Given the description of an element on the screen output the (x, y) to click on. 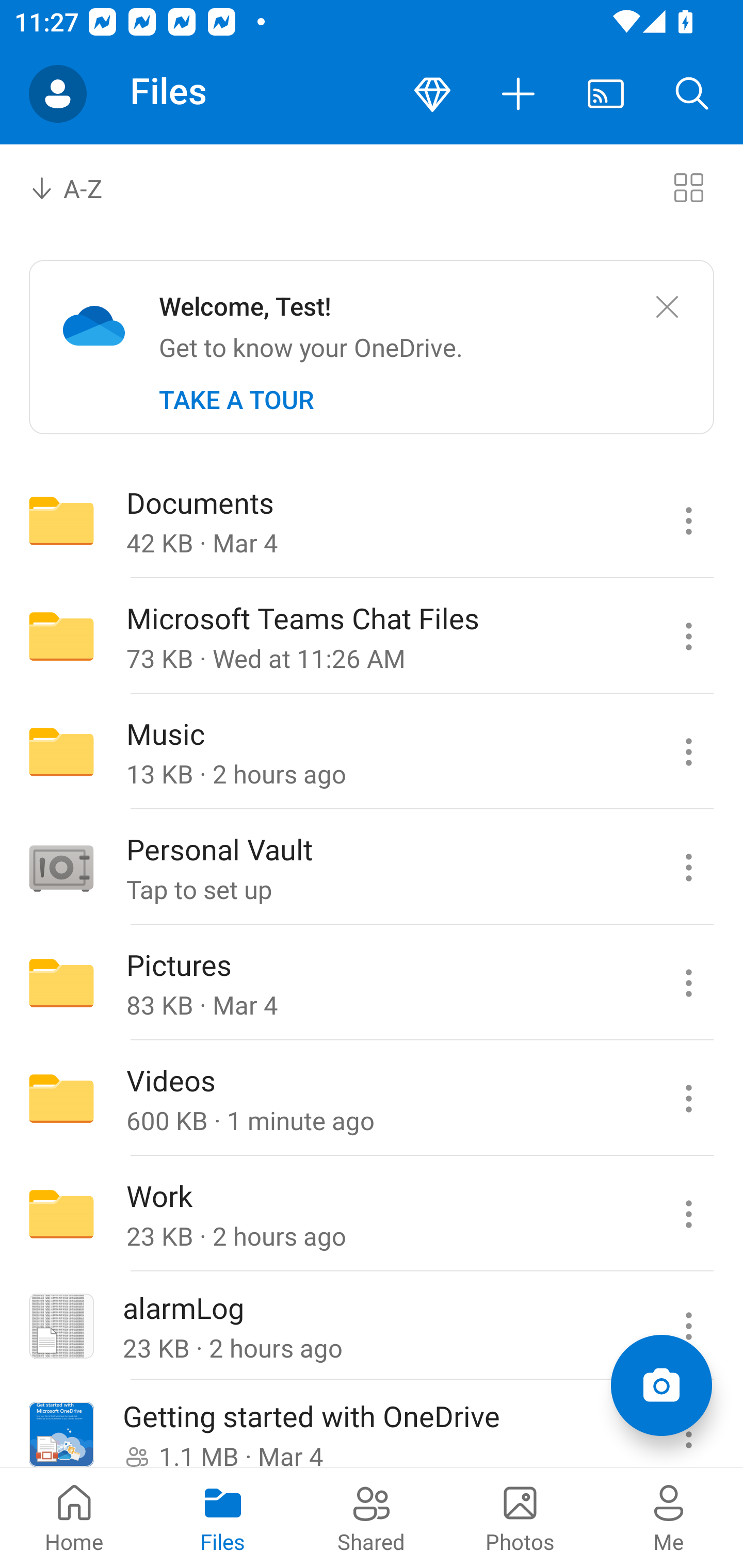
Account switcher (57, 93)
Cast. Disconnected (605, 93)
Premium button (432, 93)
More actions button (518, 93)
Search button (692, 93)
A-Z Sort by combo box, sort by name, A to Z (80, 187)
Switch to tiles view (688, 187)
Close (667, 307)
TAKE A TOUR (236, 399)
Folder Documents 42 KB · Mar 4 Documents commands (371, 520)
Documents commands (688, 520)
Microsoft Teams Chat Files commands (688, 636)
Folder Music 13 KB · 2 hours ago Music commands (371, 751)
Music commands (688, 751)
Personal Vault commands (688, 867)
Folder Pictures 83 KB · Mar 4 Pictures commands (371, 983)
Pictures commands (688, 983)
Videos commands (688, 1099)
Folder Work 23 KB · 2 hours ago Work commands (371, 1214)
Work commands (688, 1214)
alarmLog commands (688, 1325)
Add items Scan (660, 1385)
Home pivot Home (74, 1517)
Shared pivot Shared (371, 1517)
Photos pivot Photos (519, 1517)
Me pivot Me (668, 1517)
